Given the description of an element on the screen output the (x, y) to click on. 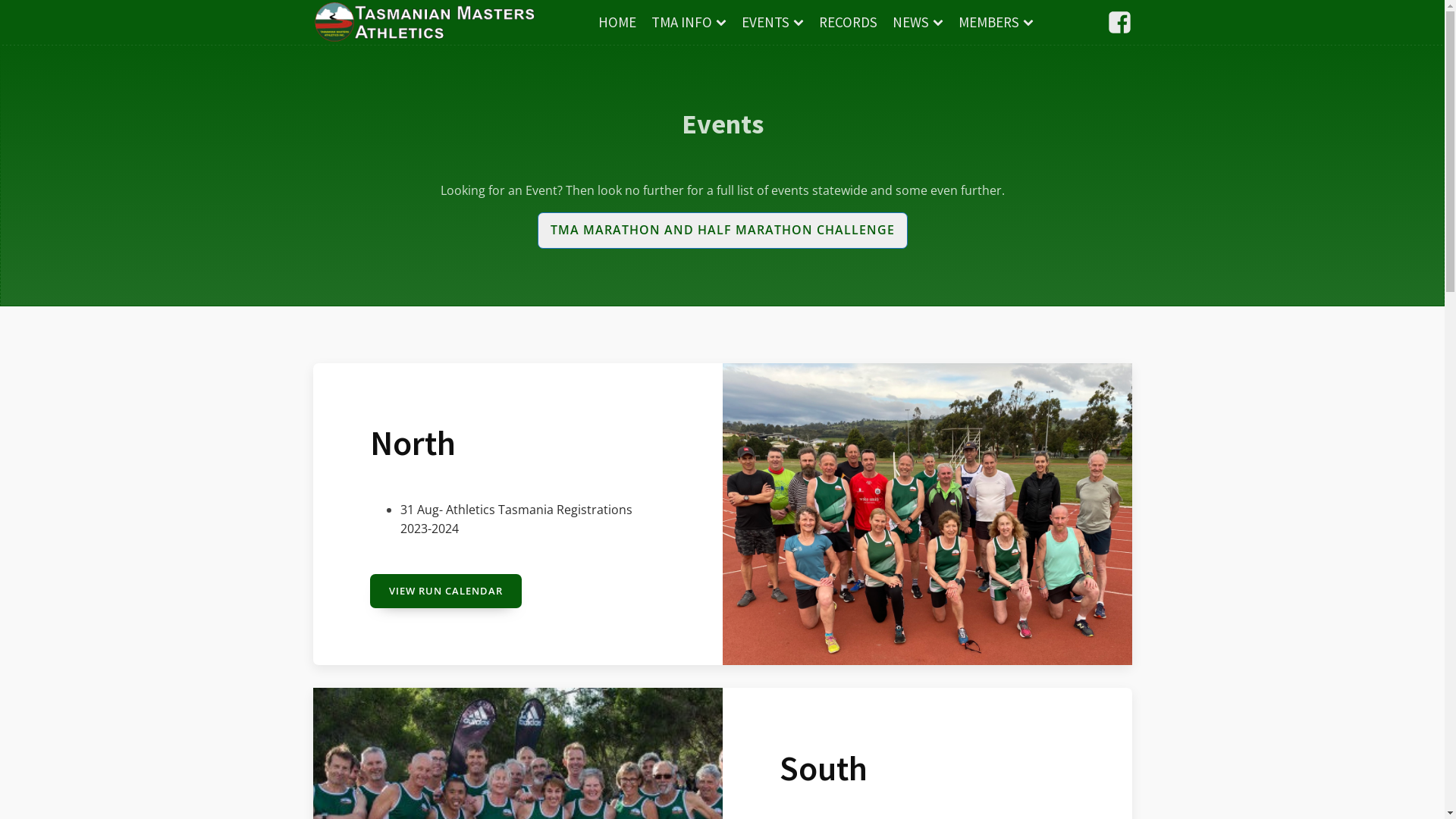
EVENTS Element type: text (772, 21)
31 Aug- Athletics Tasmania Registrations 2023-2024 Element type: text (516, 519)
MEMBERS Element type: text (995, 21)
RECORDS Element type: text (847, 21)
TMA INFO Element type: text (688, 21)
VIEW RUN CALENDAR Element type: text (445, 591)
HOME Element type: text (616, 21)
NEWS Element type: text (917, 21)
TMA MARATHON AND HALF MARATHON CHALLENGE Element type: text (721, 230)
